Given the description of an element on the screen output the (x, y) to click on. 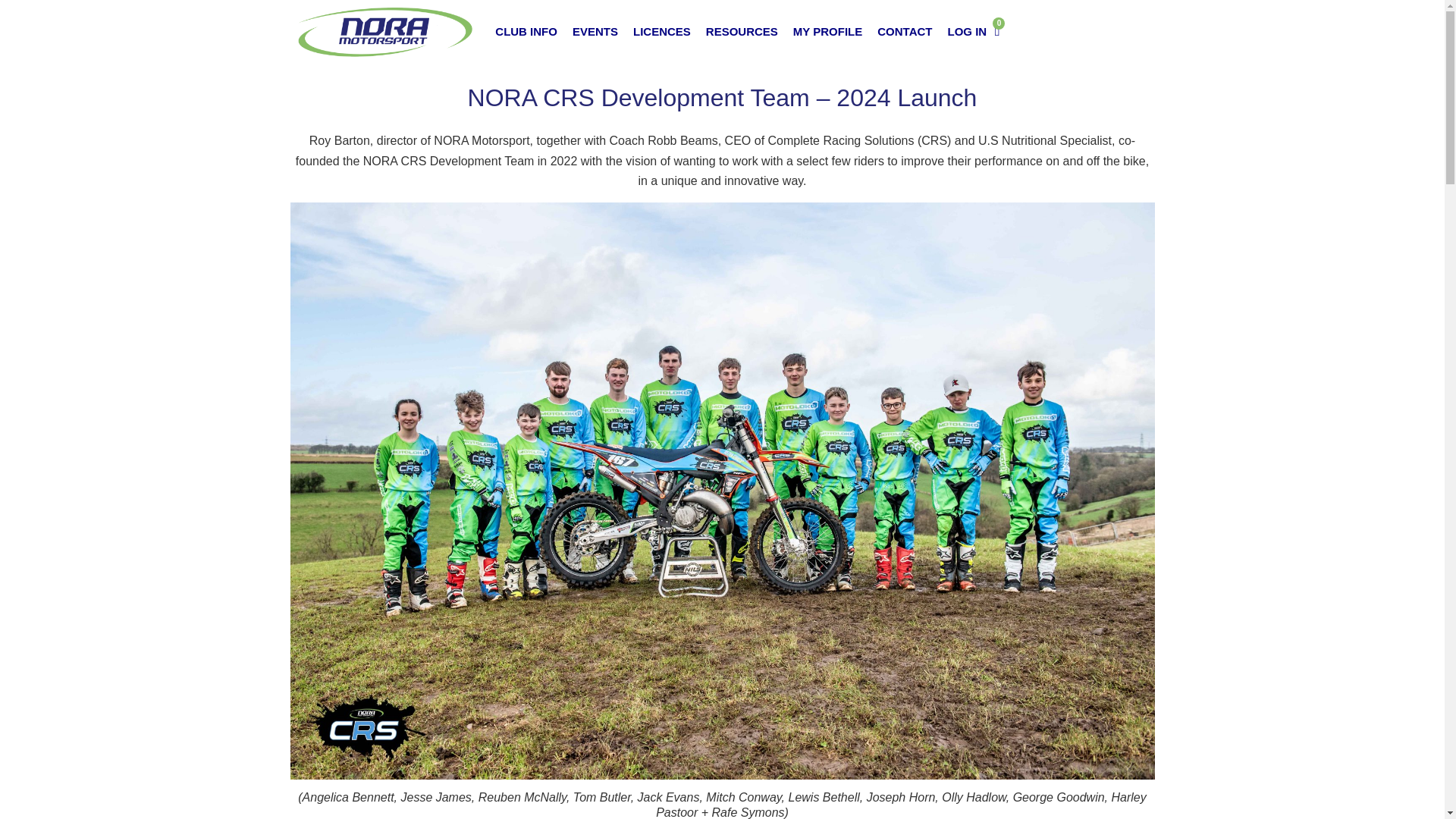
LOG IN (966, 31)
MY PROFILE (827, 31)
CONTACT (904, 31)
EVENTS (595, 31)
CLUB INFO (525, 31)
LICENCES (662, 31)
RESOURCES (742, 31)
